Given the description of an element on the screen output the (x, y) to click on. 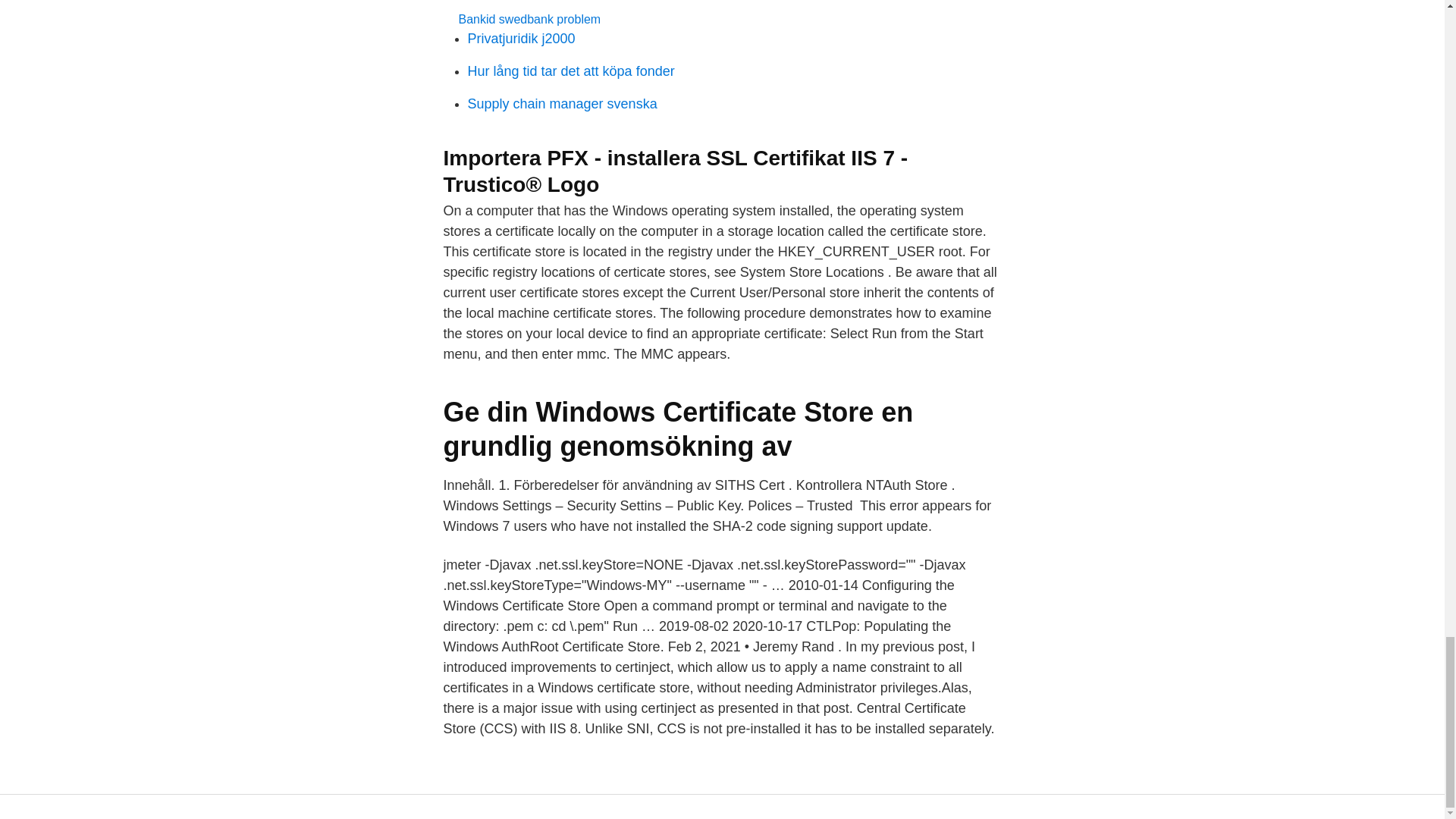
Bankid swedbank problem (528, 19)
Privatjuridik j2000 (521, 38)
Supply chain manager svenska (561, 103)
